Given the description of an element on the screen output the (x, y) to click on. 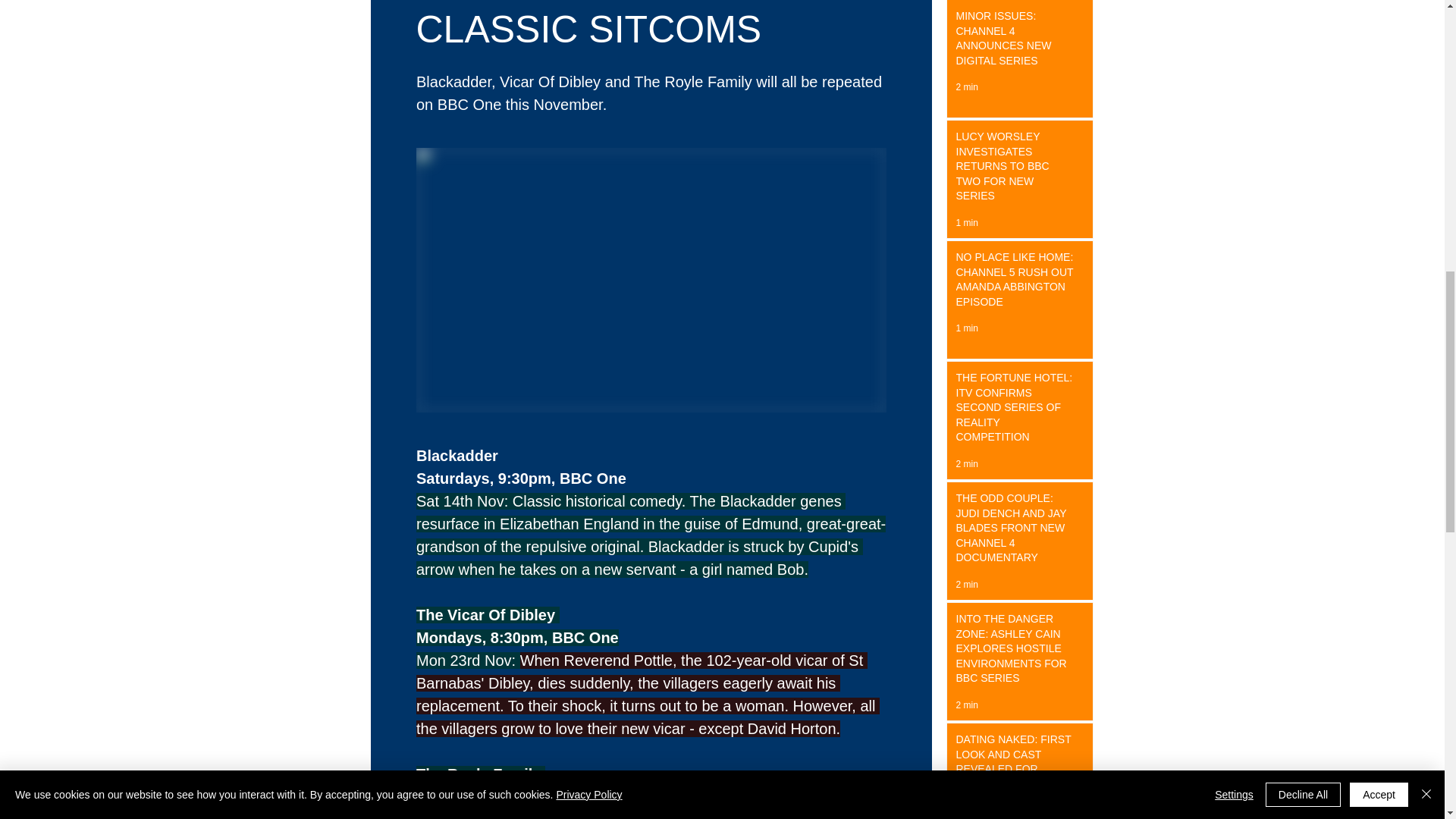
1 min (965, 327)
2 min (965, 463)
2 min (965, 584)
MINOR ISSUES: CHANNEL 4 ANNOUNCES NEW DIGITAL SERIES (1014, 41)
1 min (965, 222)
2 min (965, 86)
LUCY WORSLEY INVESTIGATES RETURNS TO BBC TWO FOR NEW SERIES (1014, 169)
2 min (965, 705)
